Given the description of an element on the screen output the (x, y) to click on. 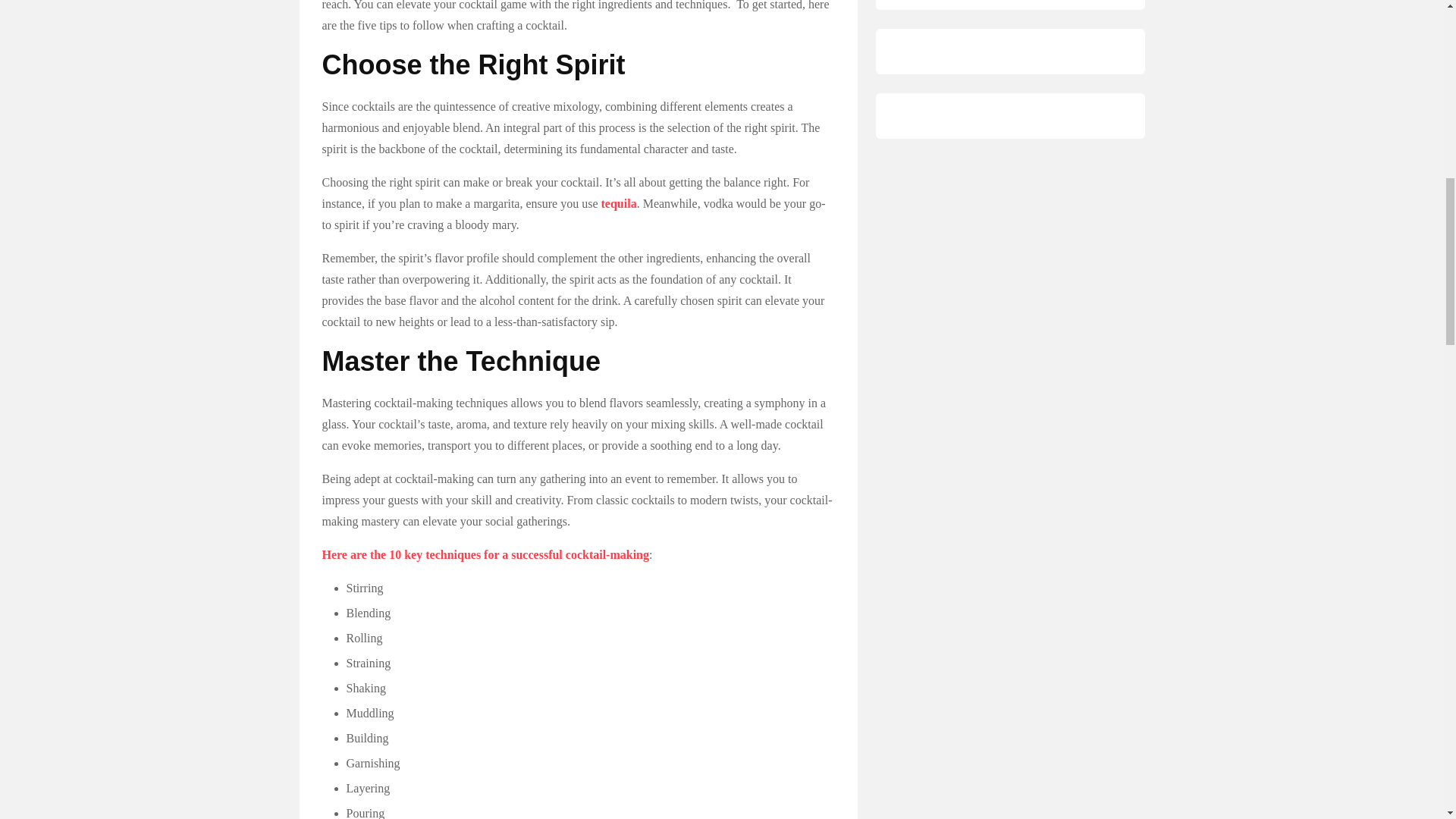
tequila (619, 203)
